Given the description of an element on the screen output the (x, y) to click on. 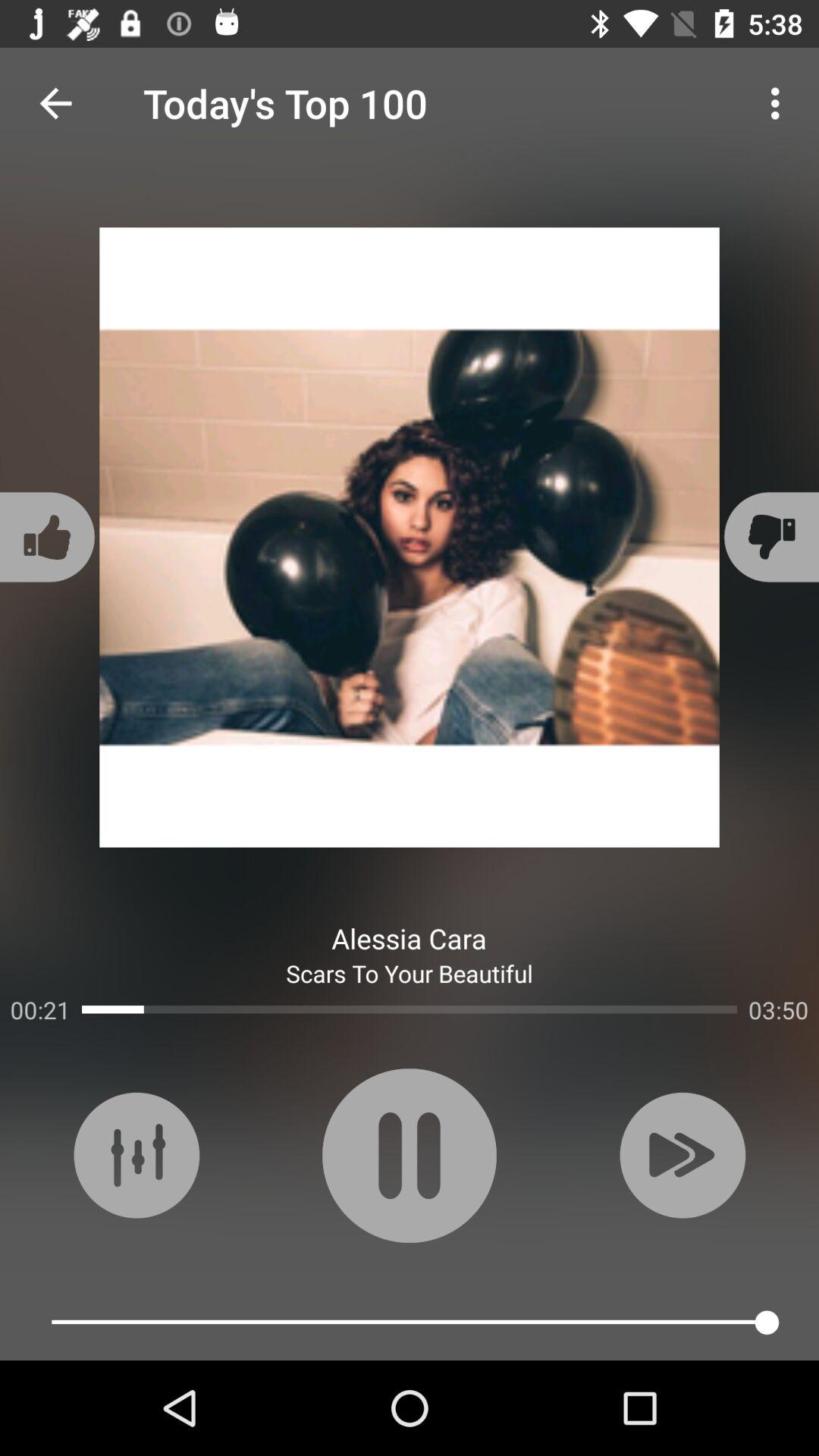
open the icon to the left of today s top icon (55, 103)
